Given the description of an element on the screen output the (x, y) to click on. 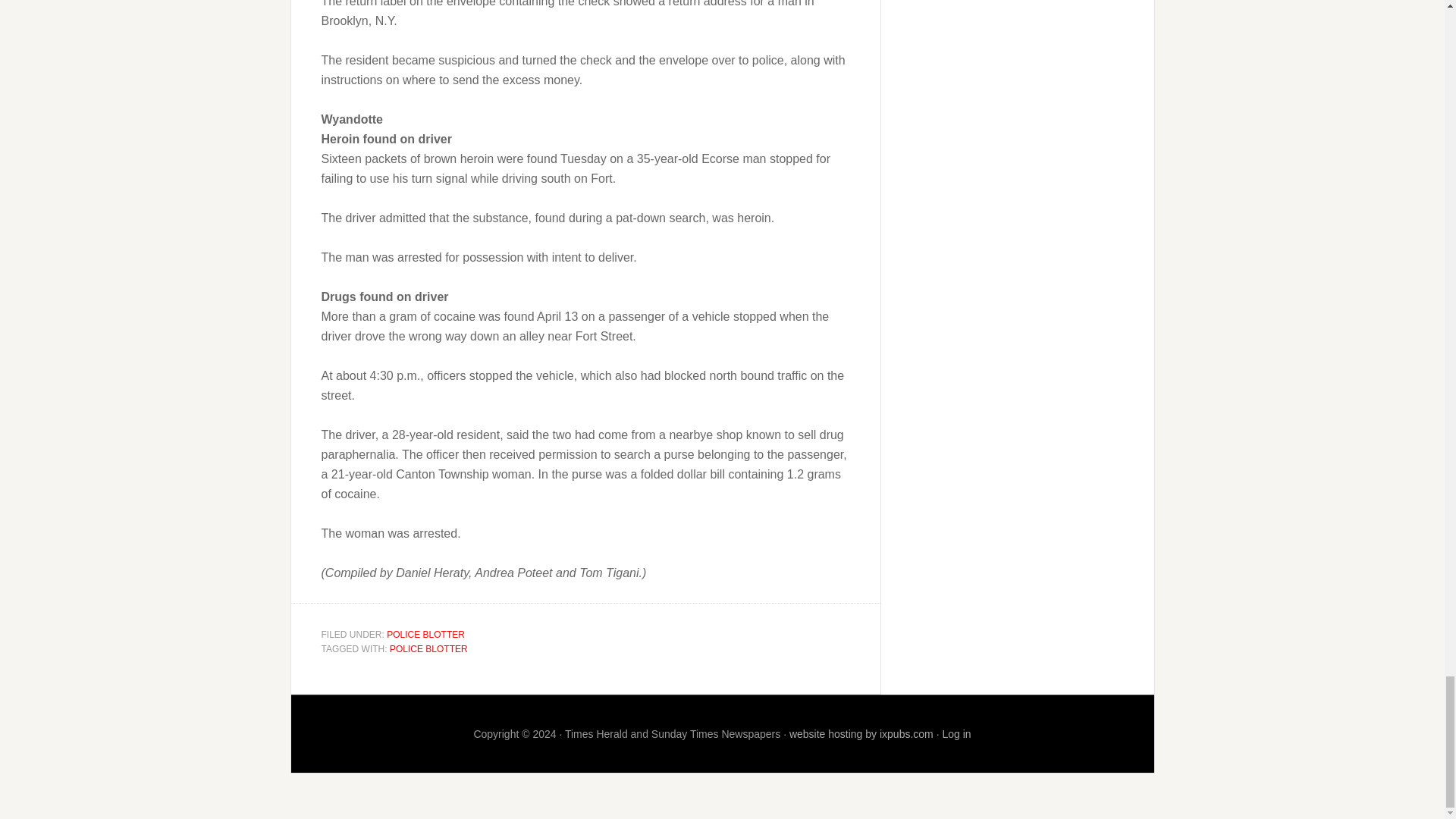
website hosting by ixpubs.com (861, 733)
Log in (956, 733)
POLICE BLOTTER (428, 648)
POLICE BLOTTER (425, 633)
